Given the description of an element on the screen output the (x, y) to click on. 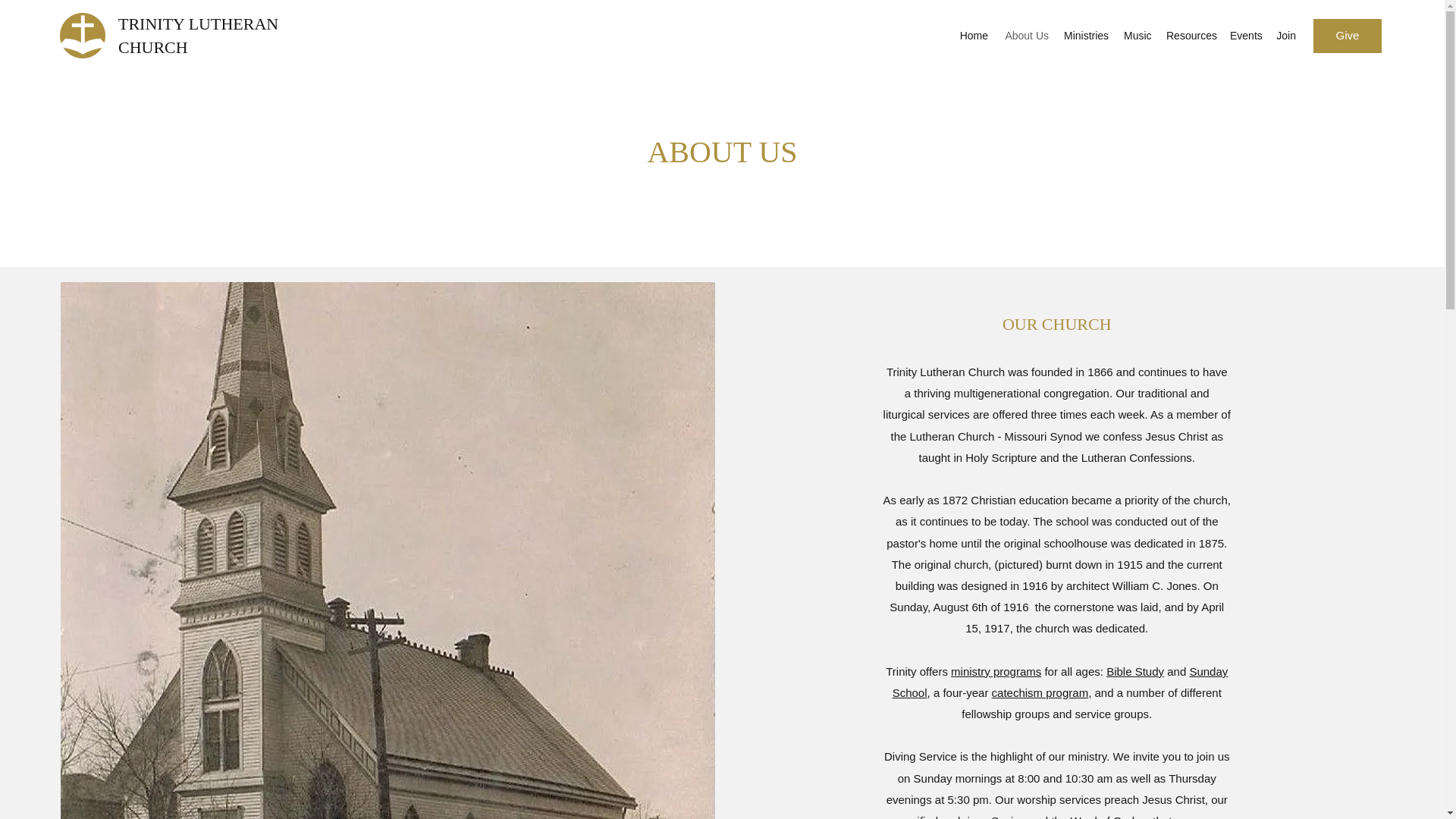
Bible Study (1134, 671)
Ministries (1086, 35)
Join (1285, 35)
Home (973, 35)
catechism program (1040, 692)
Music (1137, 35)
About Us (1026, 35)
ministry programs (995, 671)
Resources (1190, 35)
Sunday School (1060, 682)
